Given the description of an element on the screen output the (x, y) to click on. 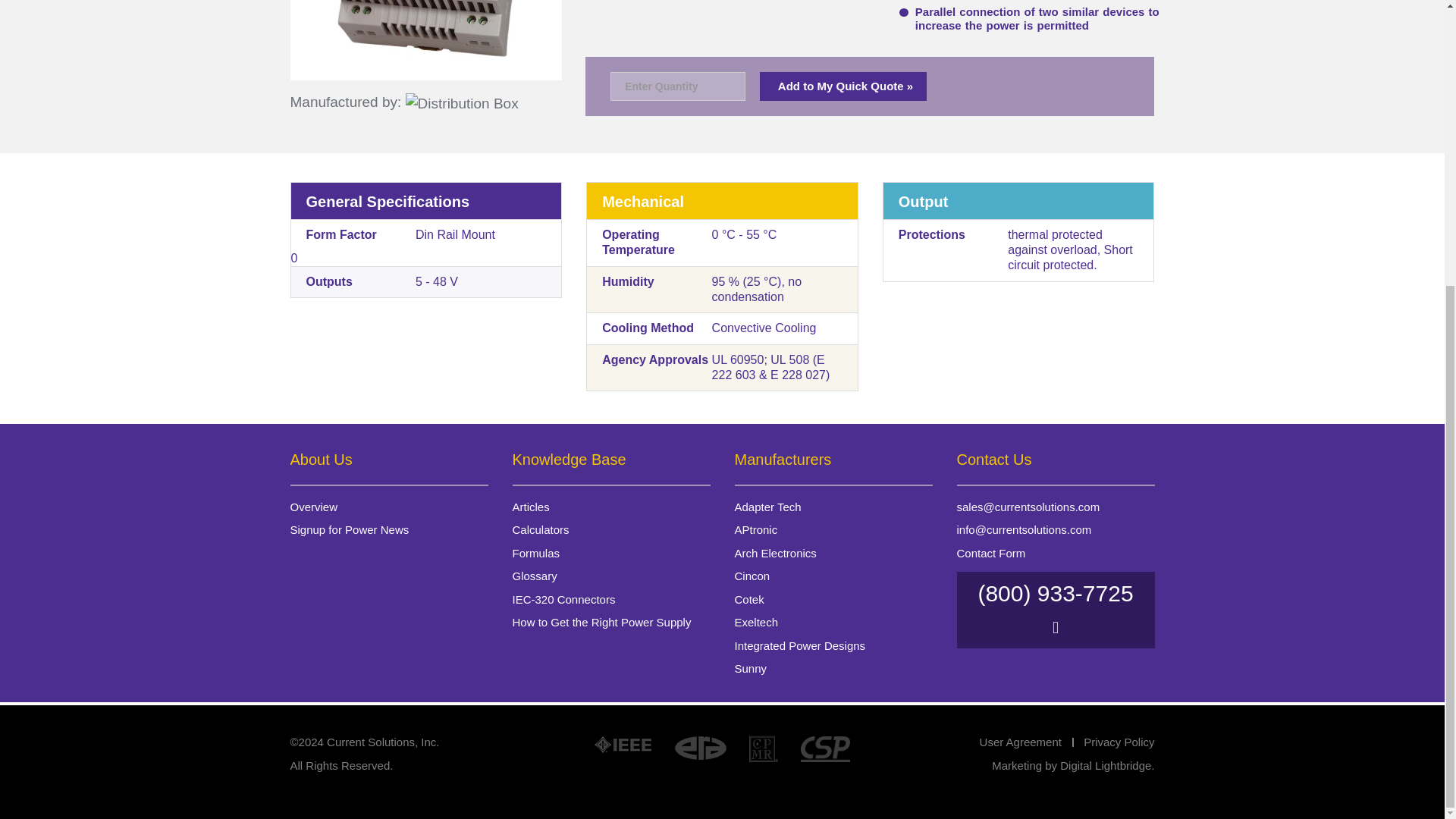
Adapter Tech (766, 506)
How to Get the Right Power Supply (601, 621)
Overview (313, 506)
IEC-320 Connectors (563, 599)
APtronic (755, 529)
Arch Electronics (774, 553)
Articles (531, 506)
Glossary (534, 575)
Calculators (540, 529)
Cincon (751, 575)
Signup for Power News (349, 529)
Formulas (536, 553)
